Given the description of an element on the screen output the (x, y) to click on. 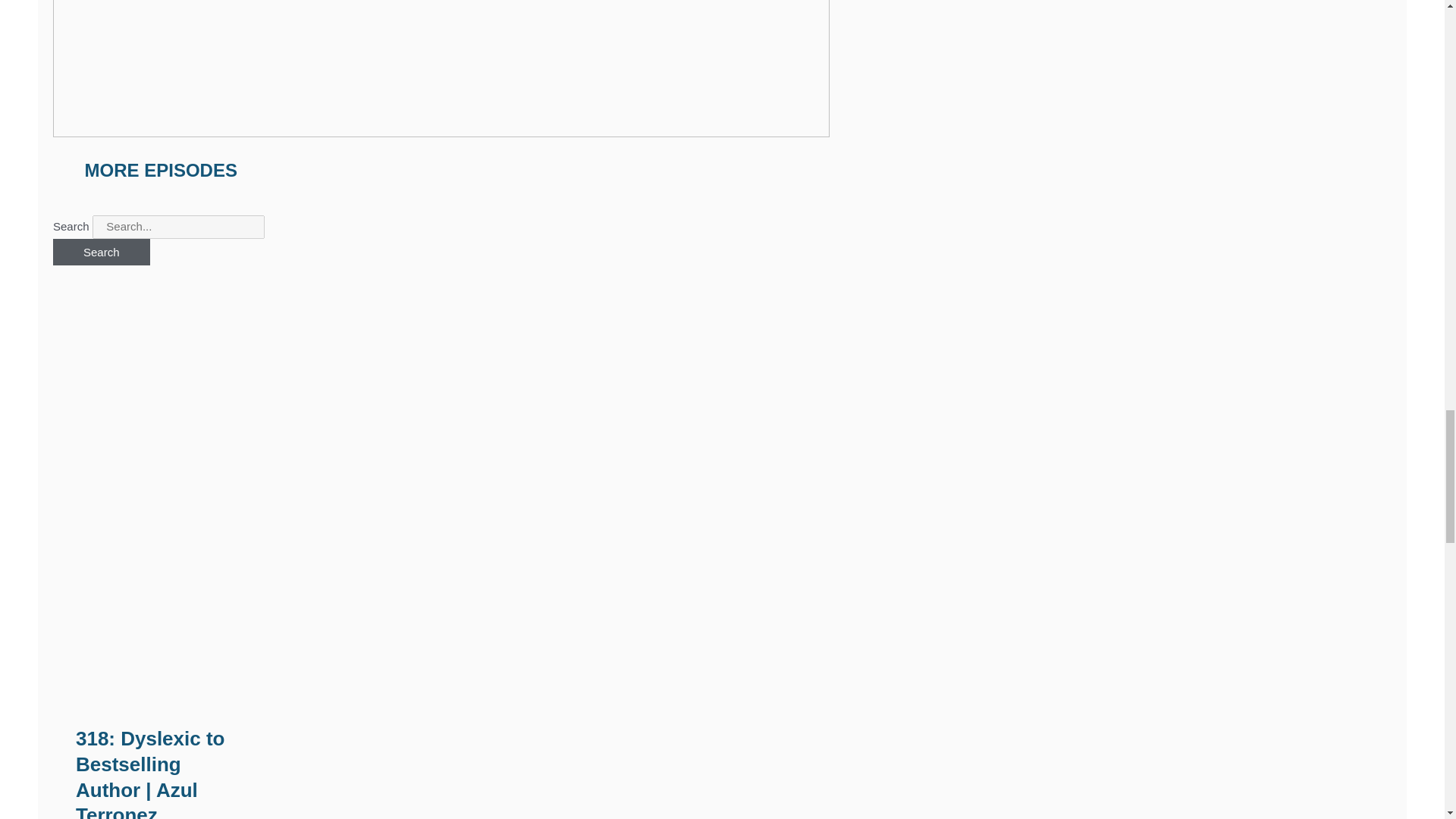
Search (100, 252)
